Given the description of an element on the screen output the (x, y) to click on. 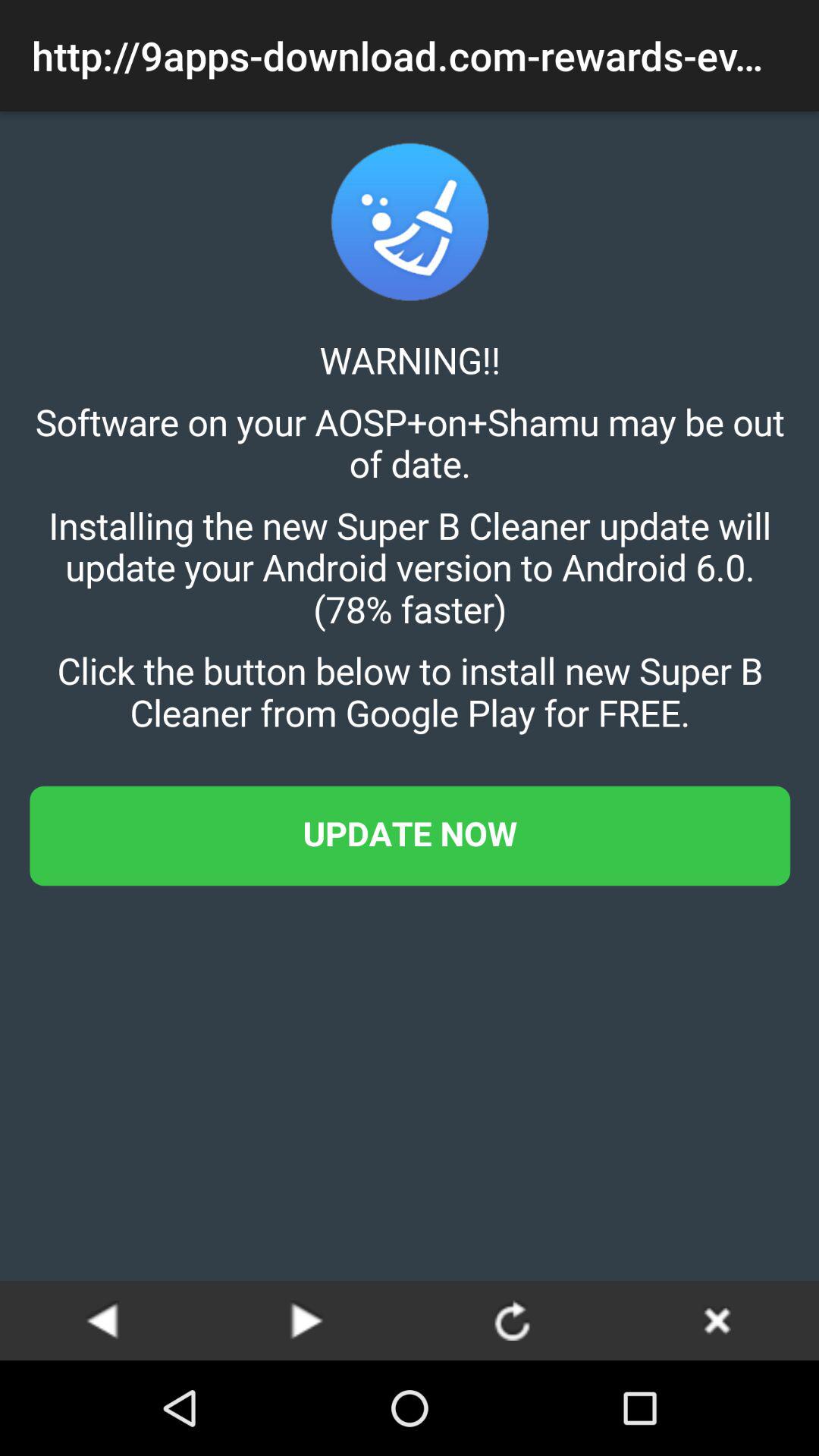
go to next (306, 1320)
